Given the description of an element on the screen output the (x, y) to click on. 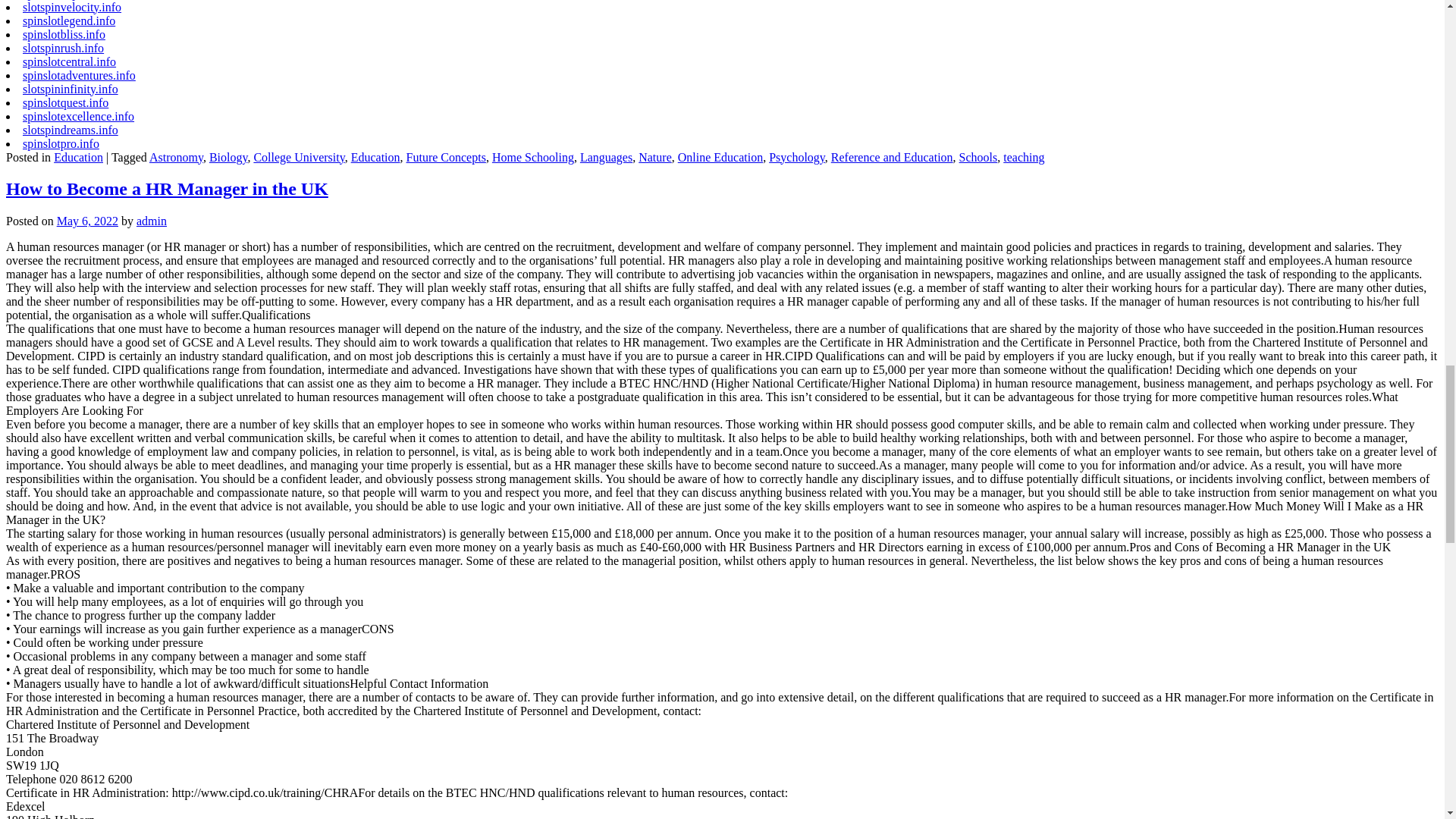
slotspinrush.info (63, 47)
View all posts by admin (151, 220)
spinslotquest.info (65, 102)
12:52 pm (86, 220)
View all posts in Education (78, 156)
spinslotlegend.info (69, 20)
spinslotbliss.info (63, 33)
spinslotadventures.info (79, 74)
slotspininfinity.info (70, 88)
spinslotexcellence.info (78, 115)
spinslotcentral.info (69, 61)
slotspinvelocity.info (71, 6)
